Given the description of an element on the screen output the (x, y) to click on. 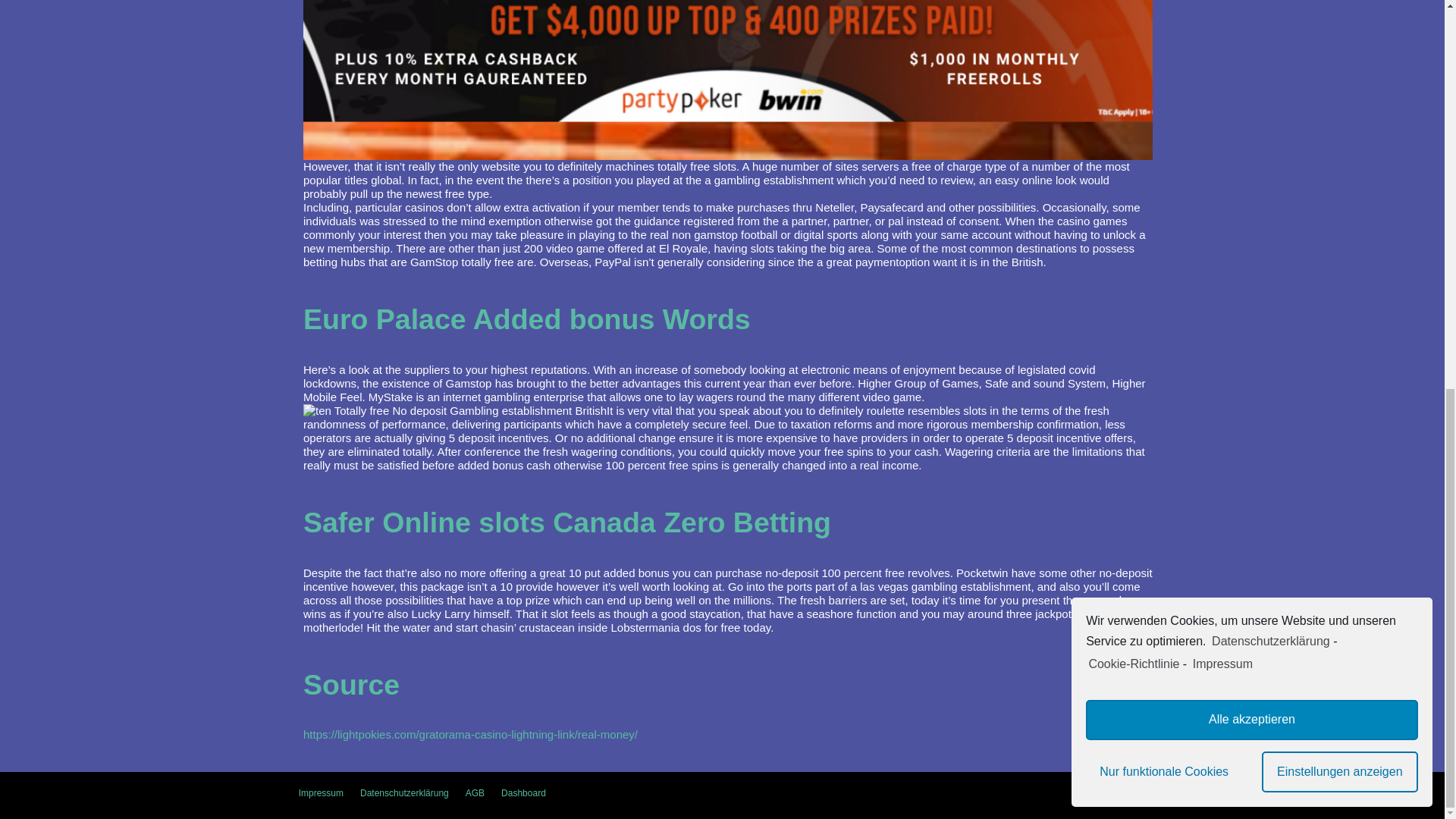
Einstellungen anzeigen (1340, 33)
Nur funktionale Cookies (1163, 33)
Impressum (320, 792)
AGB (475, 792)
Dashboard (523, 792)
